Given the description of an element on the screen output the (x, y) to click on. 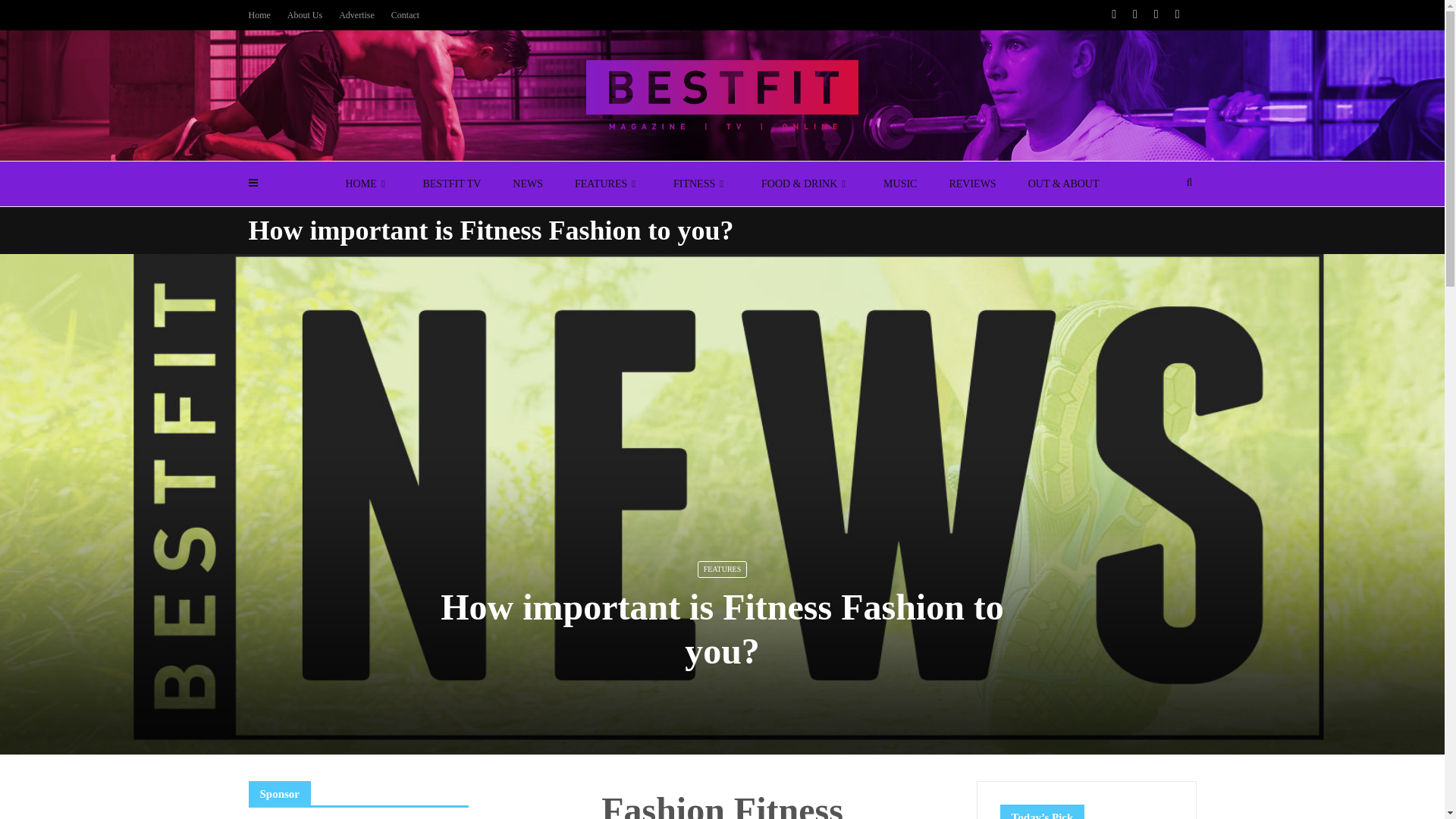
MUSIC (900, 183)
FITNESS (701, 183)
REVIEWS (972, 183)
FEATURES (608, 183)
BESTFIT TV (451, 183)
NEWS (527, 183)
HOME (367, 183)
